Given the description of an element on the screen output the (x, y) to click on. 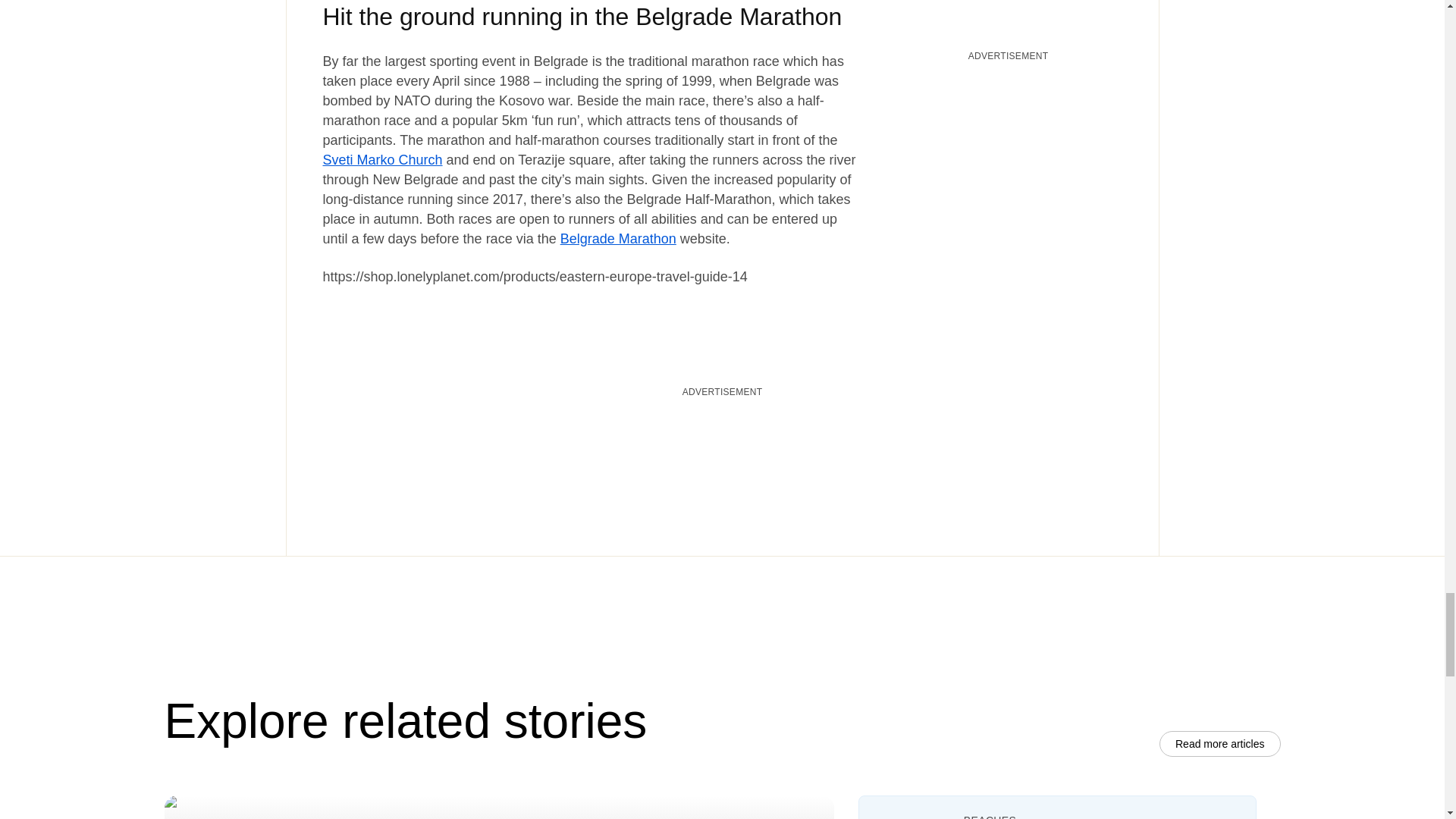
Belgrade Marathon (618, 238)
Sveti Marko Church (382, 159)
3rd party ad content (721, 439)
